Given the description of an element on the screen output the (x, y) to click on. 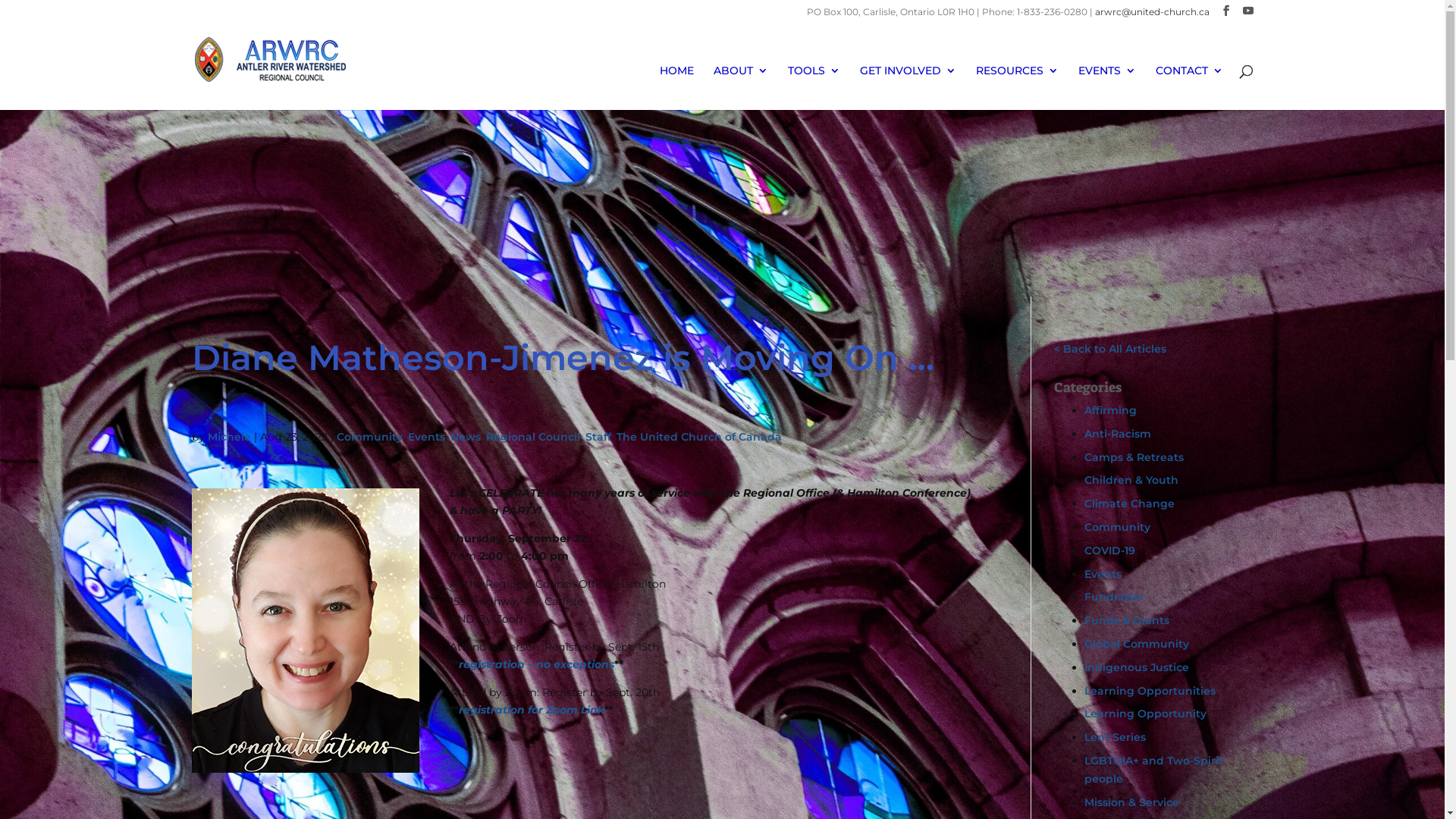
Learning Opportunity Element type: text (1145, 713)
registration for Zoom Link Element type: text (530, 709)
Global Community Element type: text (1136, 643)
LGBTQIA+ and Two-Spirit people Element type: text (1153, 769)
EVENTS Element type: text (1106, 87)
News Element type: text (465, 436)
Fundraiser Element type: text (1114, 596)
CONTACT Element type: text (1189, 87)
Regional Council Element type: text (532, 436)
TOOLS Element type: text (813, 87)
Learning Opportunities Element type: text (1149, 690)
Climate Change Element type: text (1129, 503)
arwrc@united-church.ca Element type: text (1152, 11)
Funds & Grants Element type: text (1126, 620)
Events Element type: text (426, 436)
Events Element type: text (1102, 573)
Community Element type: text (1117, 526)
ABOUT Element type: text (739, 87)
Children & Youth Element type: text (1131, 479)
Affirming Element type: text (1110, 410)
RESOURCES Element type: text (1016, 87)
Anti-Racism Element type: text (1117, 433)
Community Element type: text (369, 436)
Indigenous Justice Element type: text (1136, 667)
GET INVOLVED Element type: text (907, 87)
The United Church of Canada Element type: text (698, 436)
Camps & Retreats Element type: text (1133, 457)
COVID-19 Element type: text (1109, 550)
< Back to All Articles Element type: text (1110, 348)
Staff Element type: text (598, 436)
HOME Element type: text (676, 87)
Mission & Service Element type: text (1131, 802)
Lent Series Element type: text (1114, 736)
Michele Element type: text (229, 436)
